Given the description of an element on the screen output the (x, y) to click on. 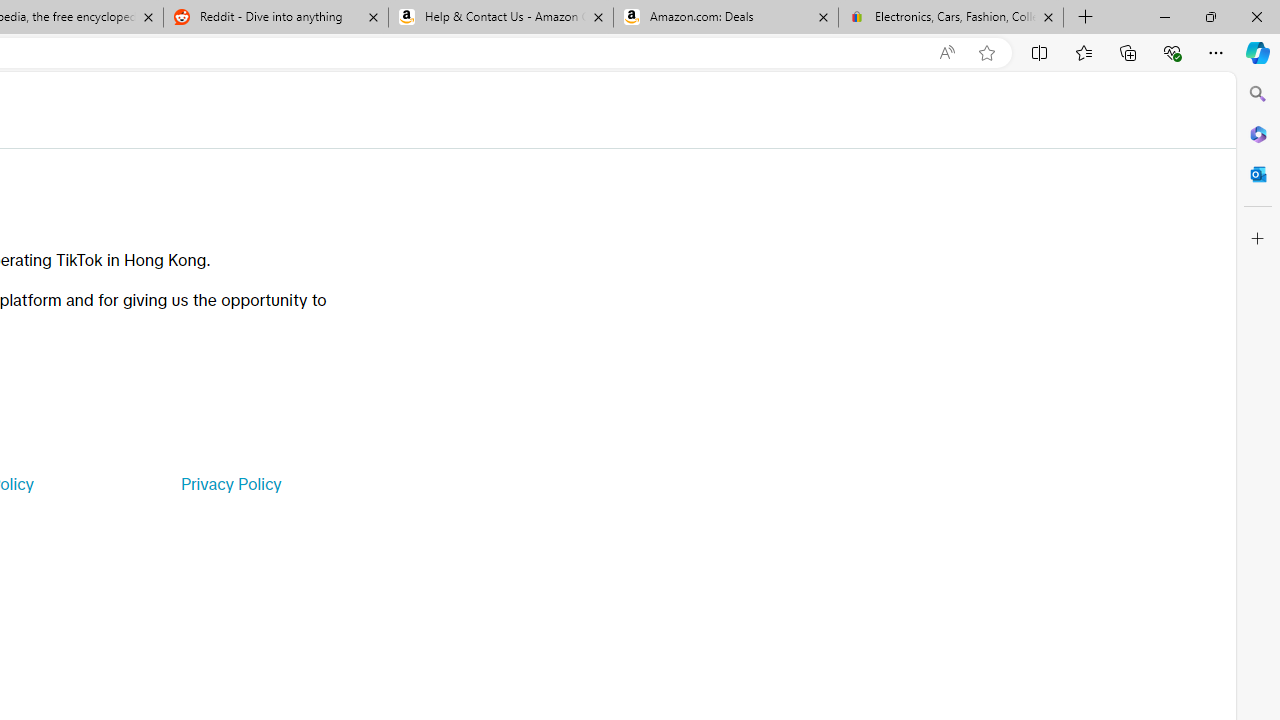
Amazon.com: Deals (726, 17)
